Given the description of an element on the screen output the (x, y) to click on. 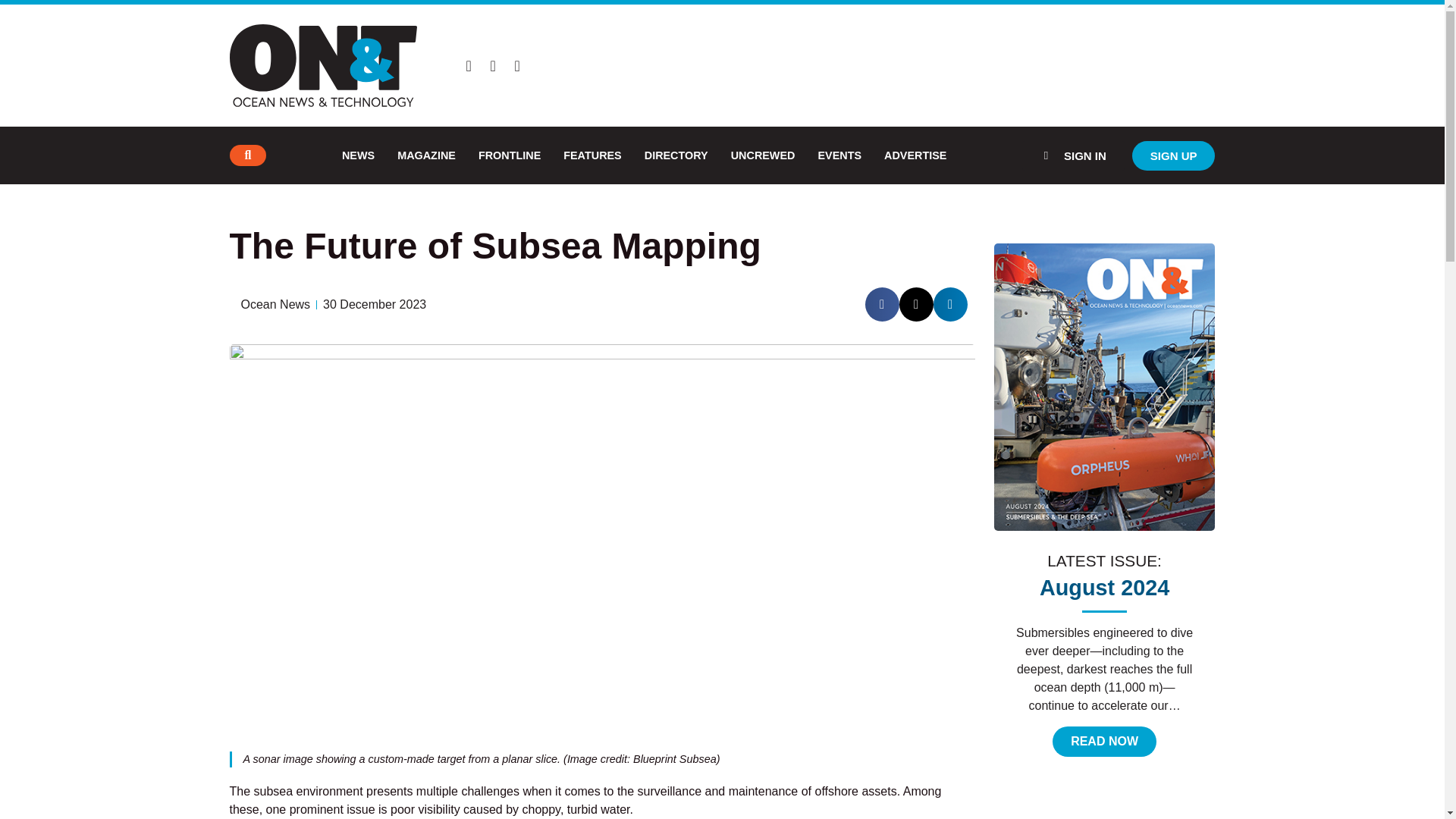
DIRECTORY (676, 155)
MAGAZINE (426, 155)
ADVERTISE (915, 155)
FEATURES (592, 155)
UNCREWED (762, 155)
EVENTS (839, 155)
NEWS (357, 155)
FRONTLINE (509, 155)
